Given the description of an element on the screen output the (x, y) to click on. 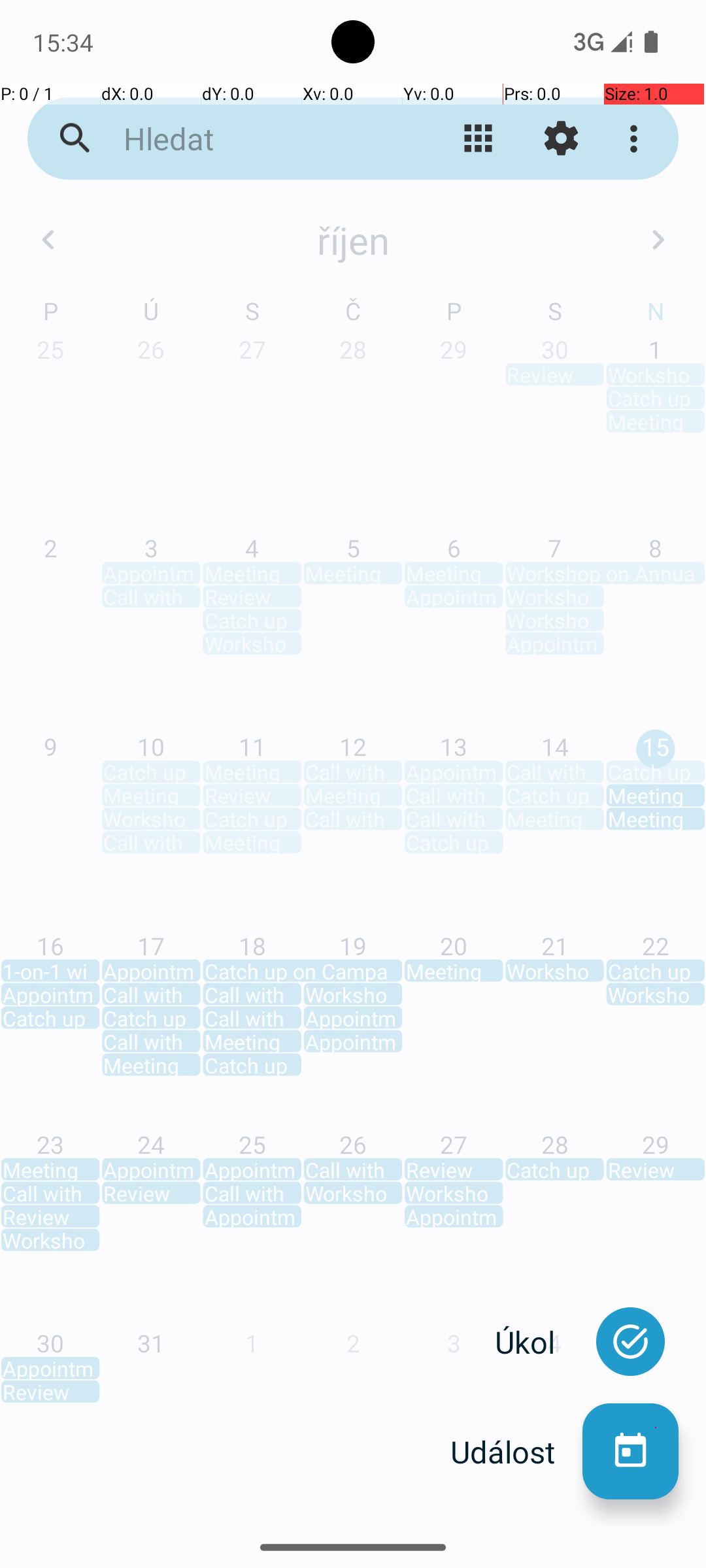
Úkol Element type: android.widget.TextView (538, 1341)
Událost Element type: android.widget.TextView (516, 1451)
